Given the description of an element on the screen output the (x, y) to click on. 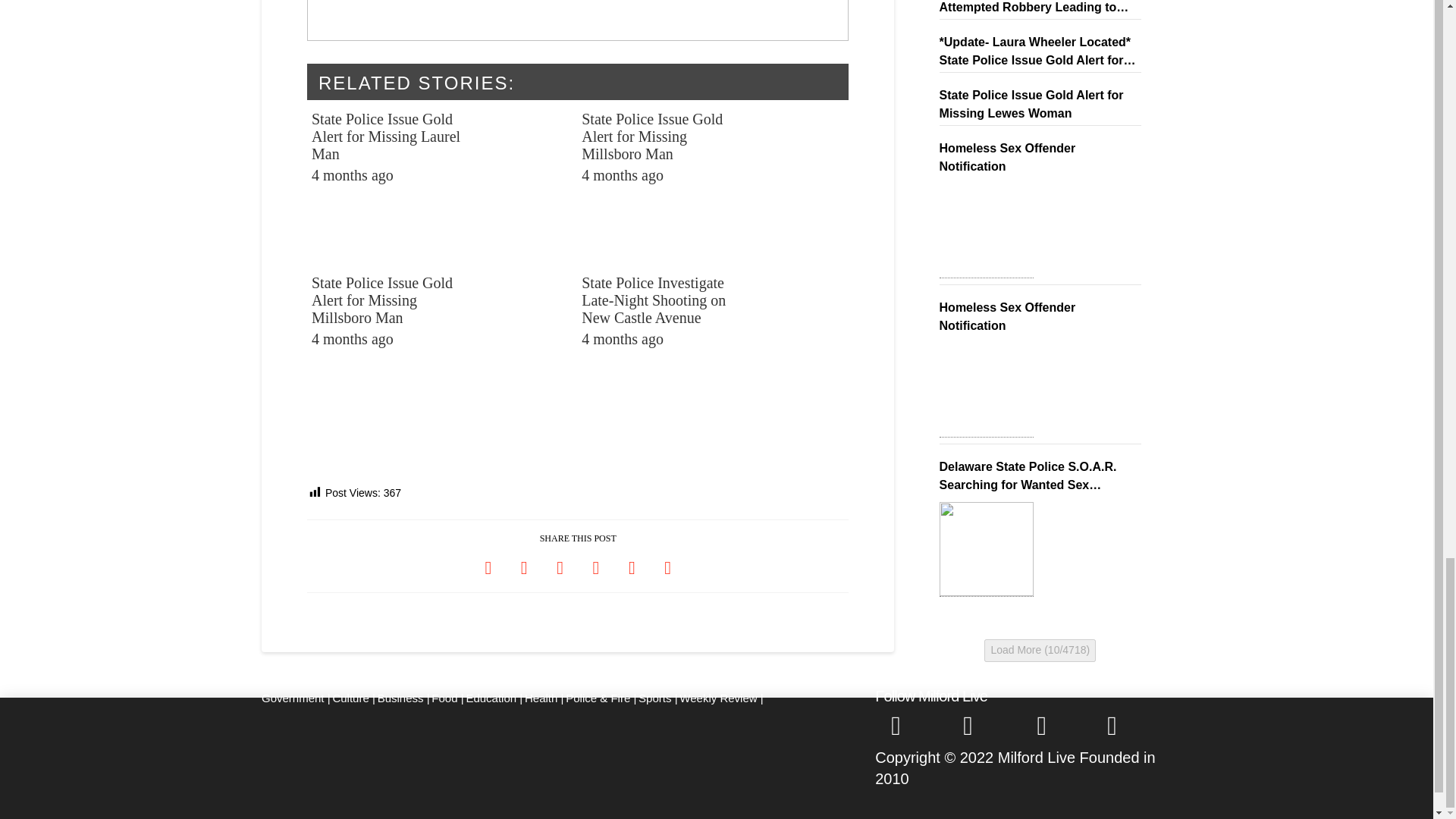
Homeless Sex Offender Notification (986, 230)
Homeless Sex Offender Notification (986, 390)
